Given the description of an element on the screen output the (x, y) to click on. 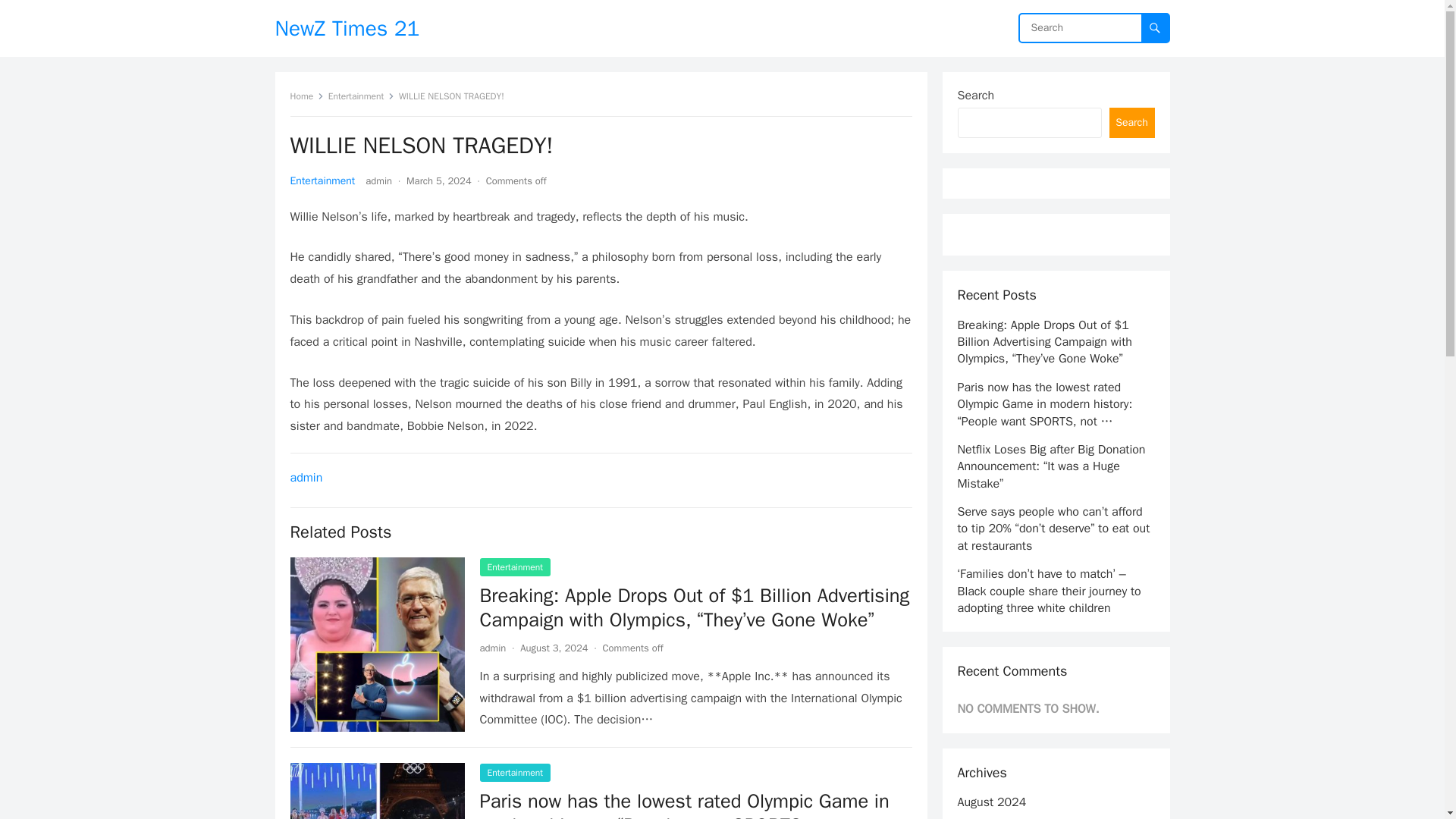
Posts by admin (378, 180)
NewZ Times 21 (347, 28)
Posts by admin (492, 647)
